Given the description of an element on the screen output the (x, y) to click on. 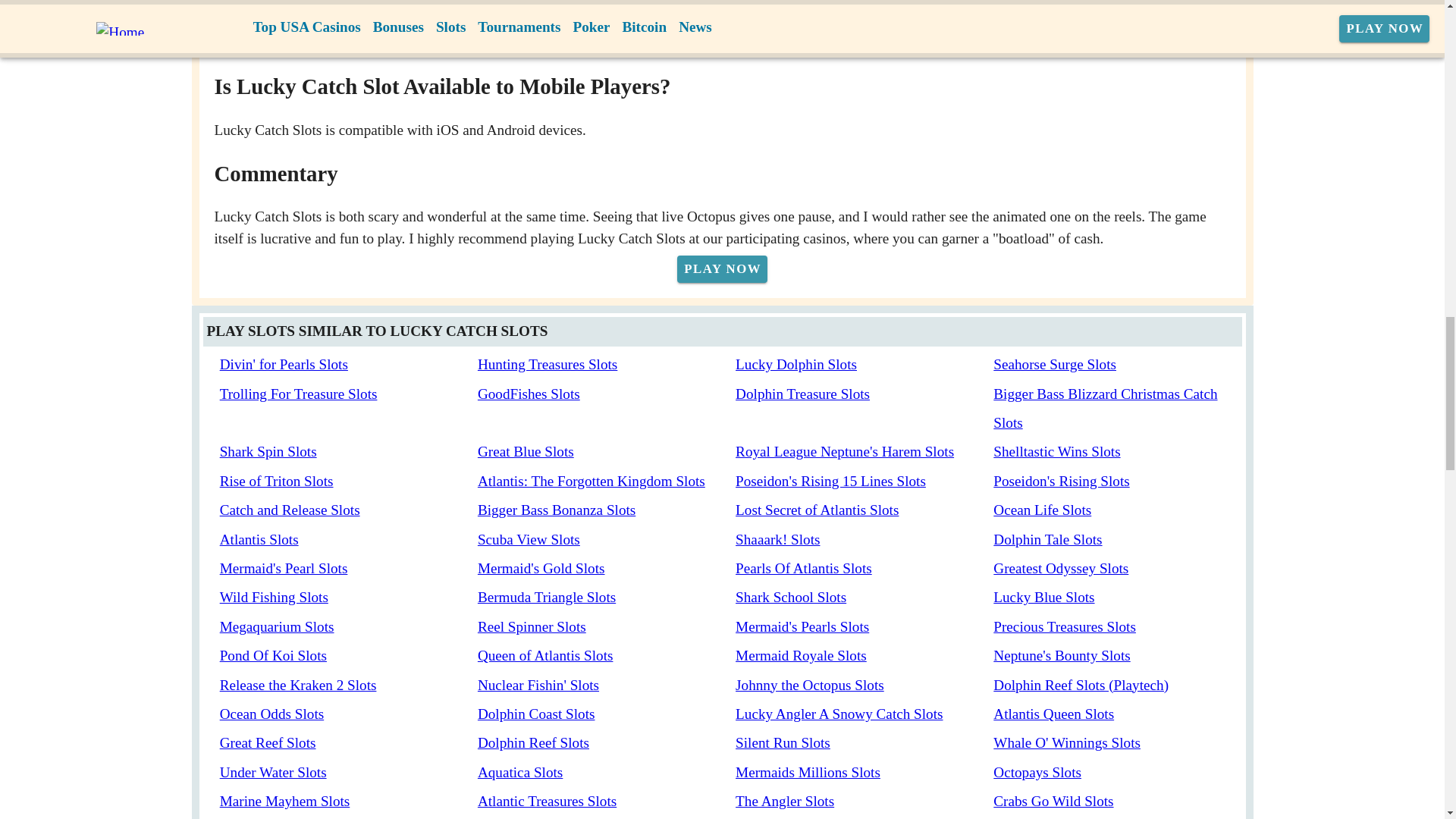
Poseidon's Rising 15 Lines Slots (830, 480)
Royal League Neptune's Harem Slots (844, 451)
Great Blue Slots (525, 451)
Trolling For Treasure Slots (298, 393)
Seahorse Surge Slots (1054, 364)
Bigger Bass Blizzard Christmas Catch Slots (1104, 407)
Lucky Dolphin Slots (796, 364)
Poseidon's Rising Slots (1060, 480)
Shelltastic Wins Slots (1055, 451)
GoodFishes Slots (528, 393)
